Given the description of an element on the screen output the (x, y) to click on. 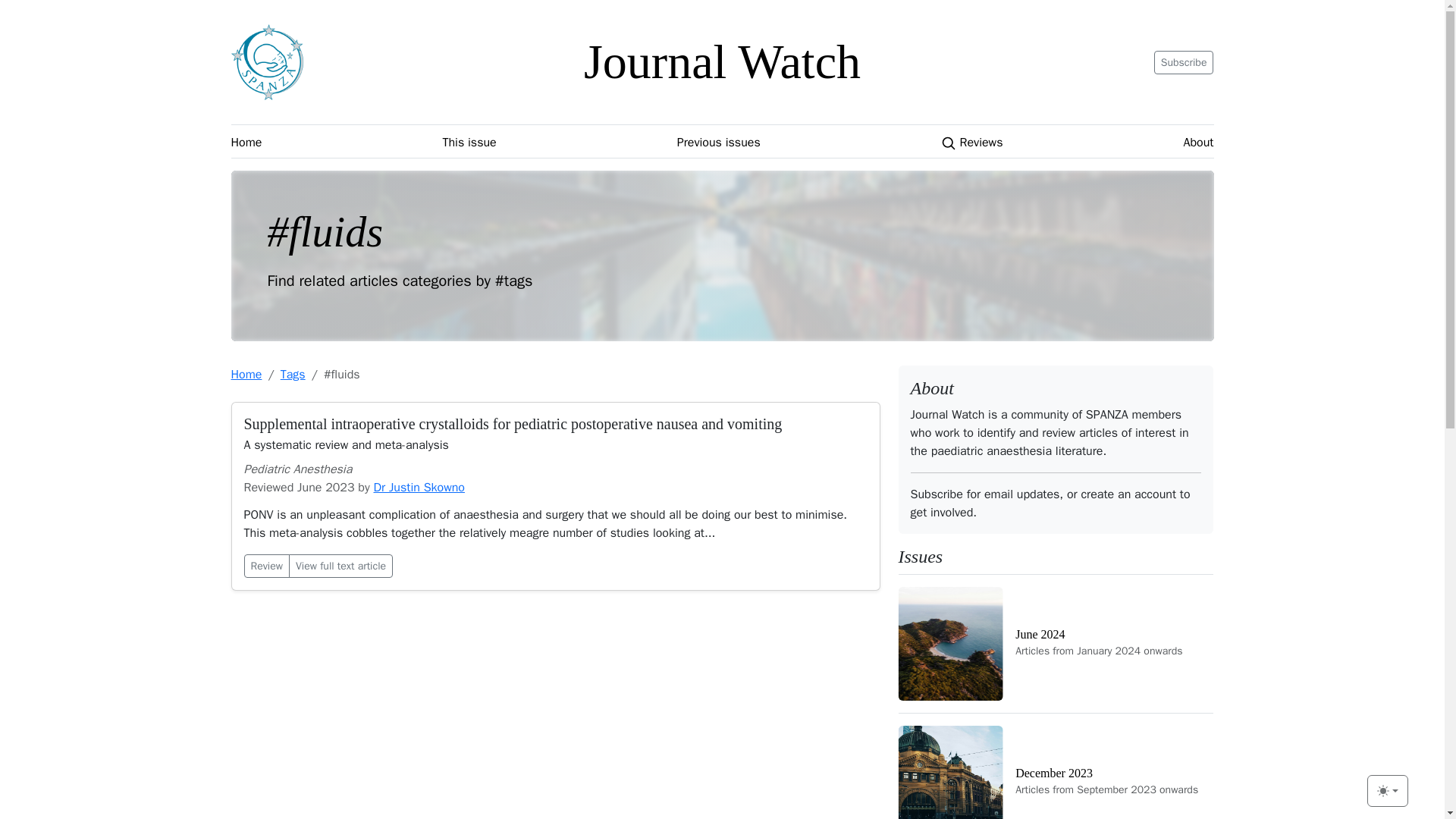
This issue (469, 142)
Journal Watch (721, 61)
Home (246, 142)
Toggle theme (1055, 765)
Reviews (1387, 790)
Review (1055, 643)
Subscribe (971, 142)
About (266, 566)
View full text article (1184, 61)
Home (721, 141)
Dr Justin Skowno (1198, 142)
Tags (340, 566)
